Given the description of an element on the screen output the (x, y) to click on. 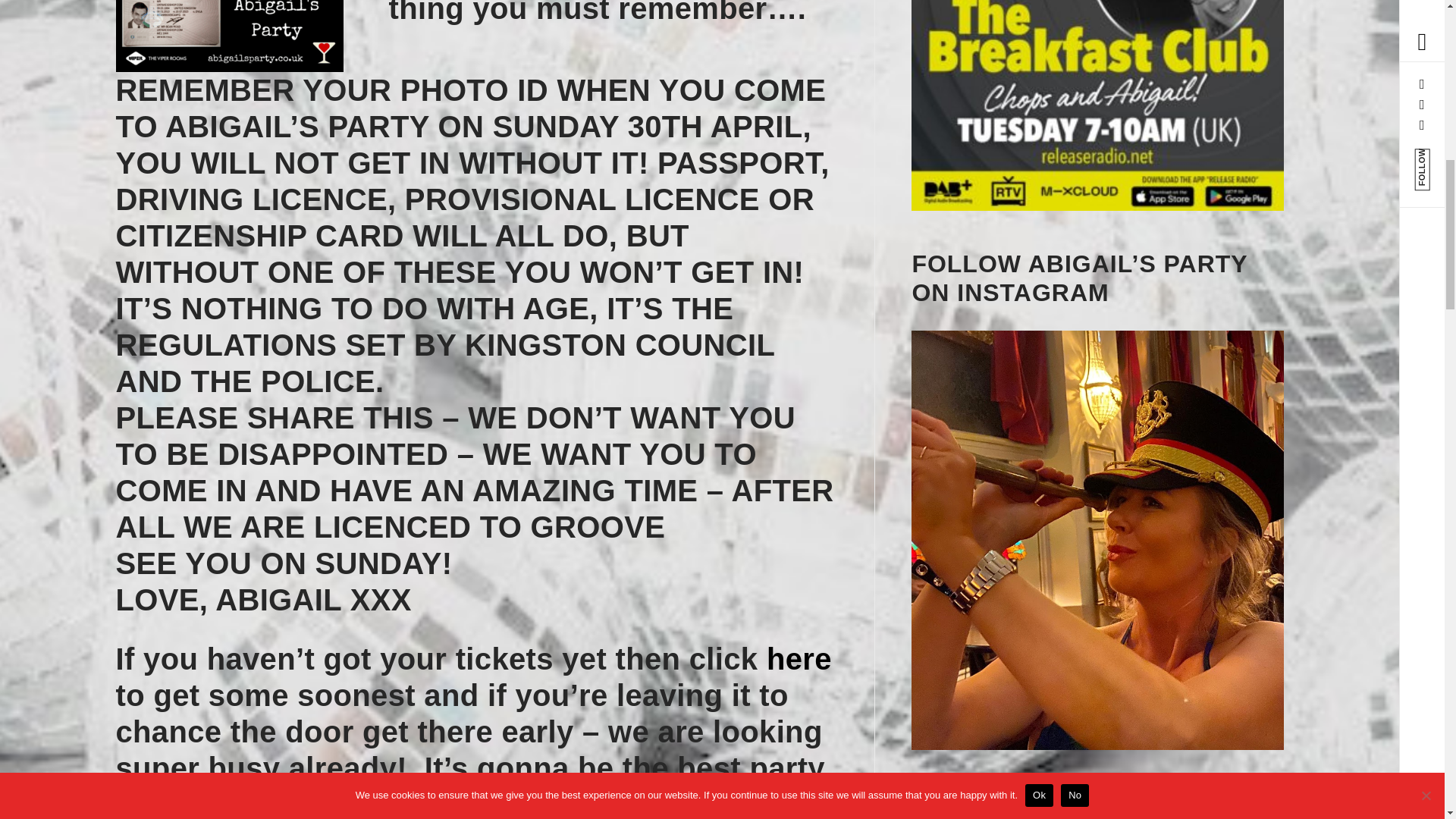
heart emoticon (679, 526)
here (799, 658)
